Given the description of an element on the screen output the (x, y) to click on. 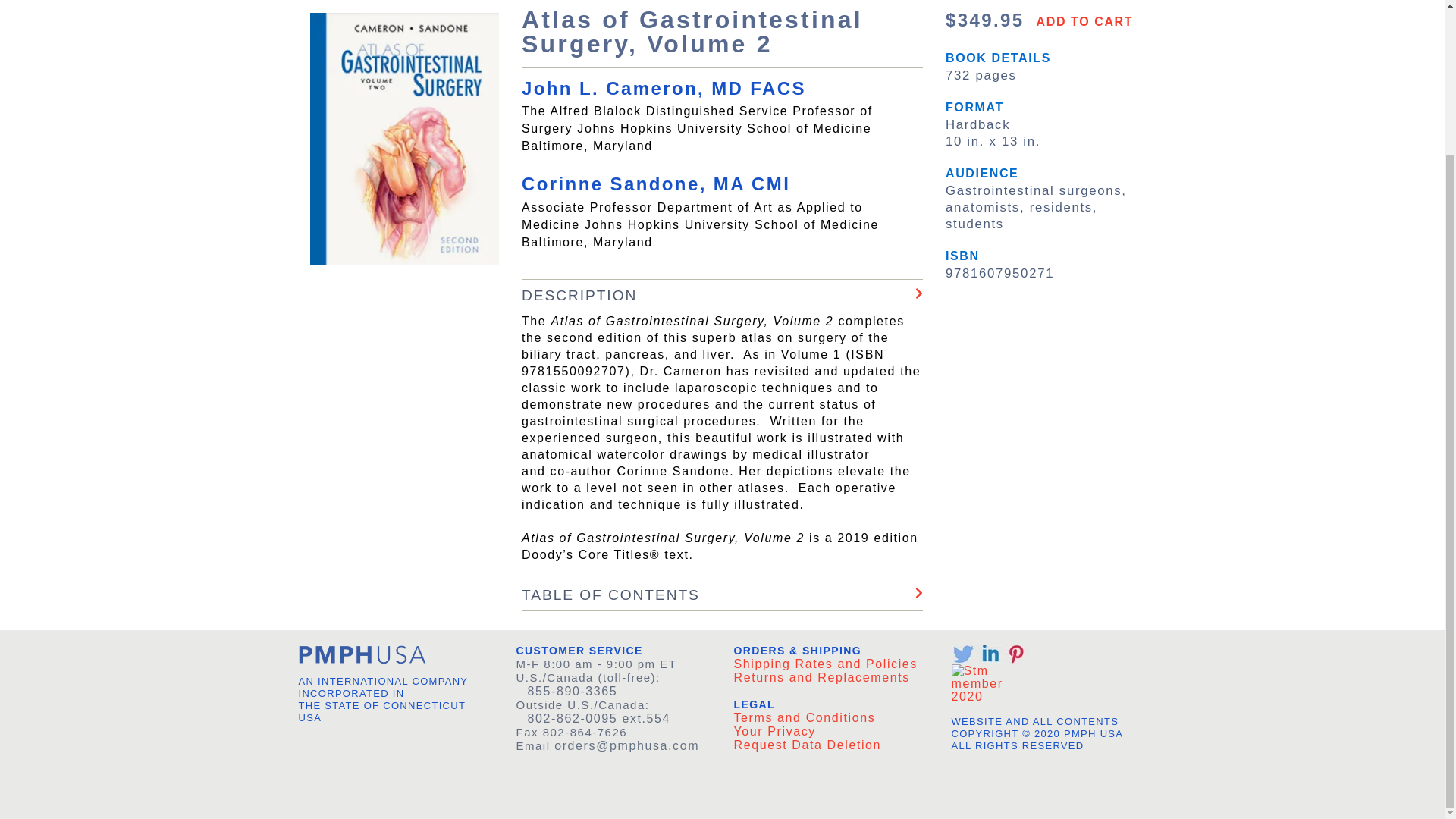
ADD TO CART (1081, 23)
Your Privacy (774, 730)
Shipping Rates and Policies (825, 663)
DESCRIPTION (722, 294)
Returns and Replacements (821, 676)
Terms and Conditions (804, 717)
Request Data Deletion (807, 744)
TABLE OF CONTENTS (722, 594)
